Given the description of an element on the screen output the (x, y) to click on. 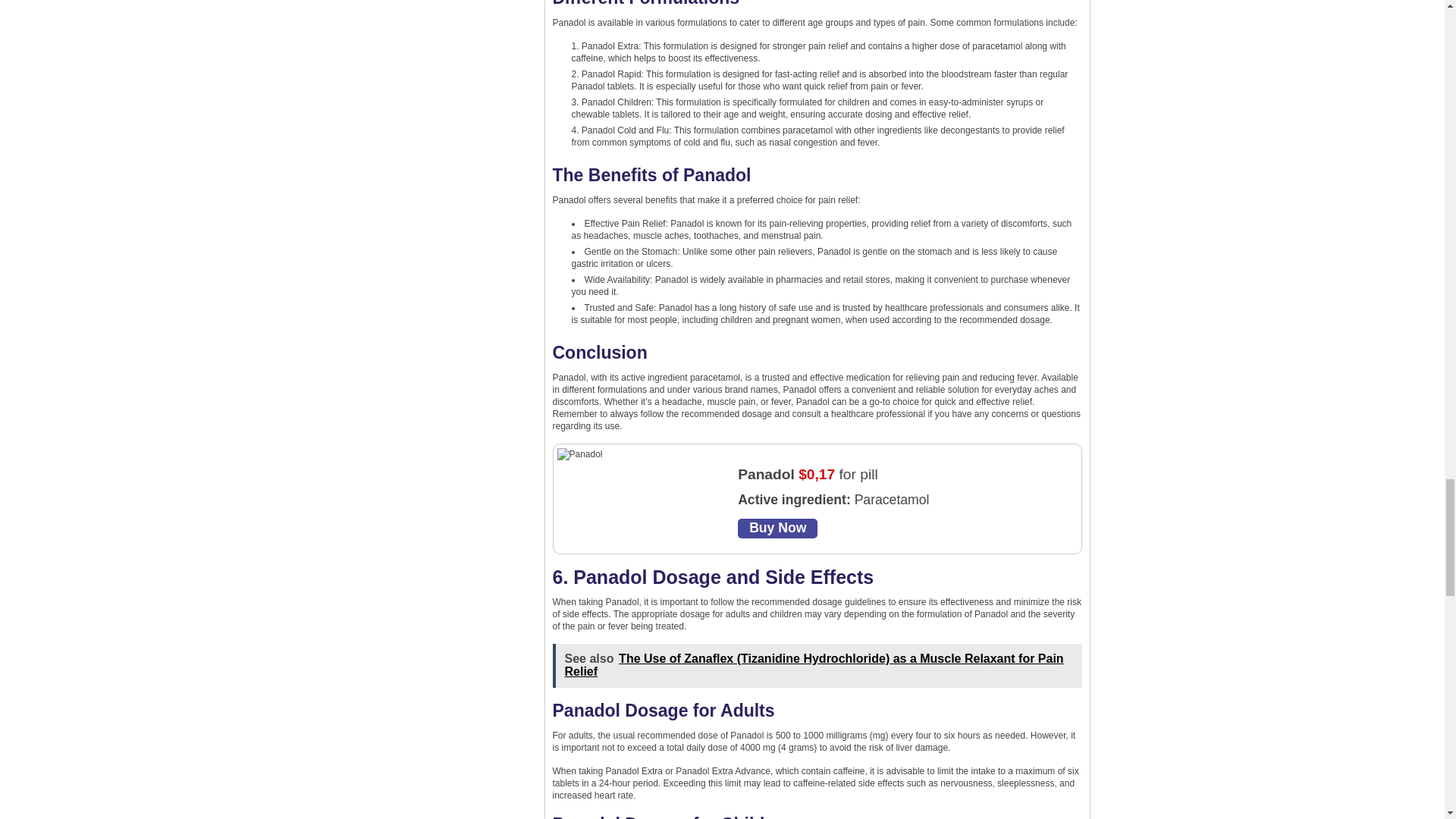
Buy Now (777, 527)
